Given the description of an element on the screen output the (x, y) to click on. 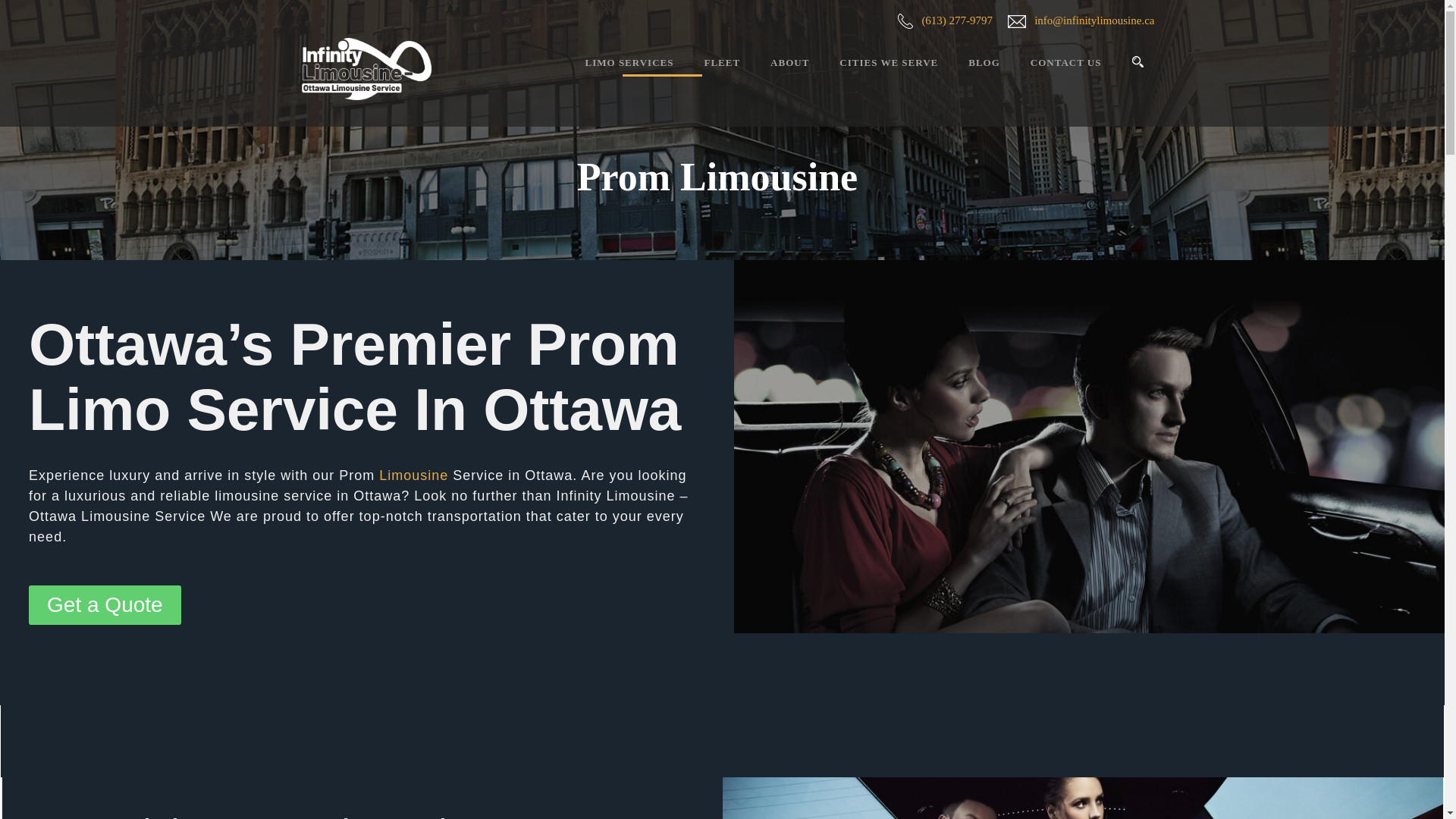
BLOG (968, 74)
FLEET (705, 74)
ABOUT (774, 74)
Limousine (413, 475)
CITIES WE SERVE (873, 74)
LIMO SERVICES (629, 74)
Get a Quote (104, 604)
CONTACT US (1051, 74)
